Given the description of an element on the screen output the (x, y) to click on. 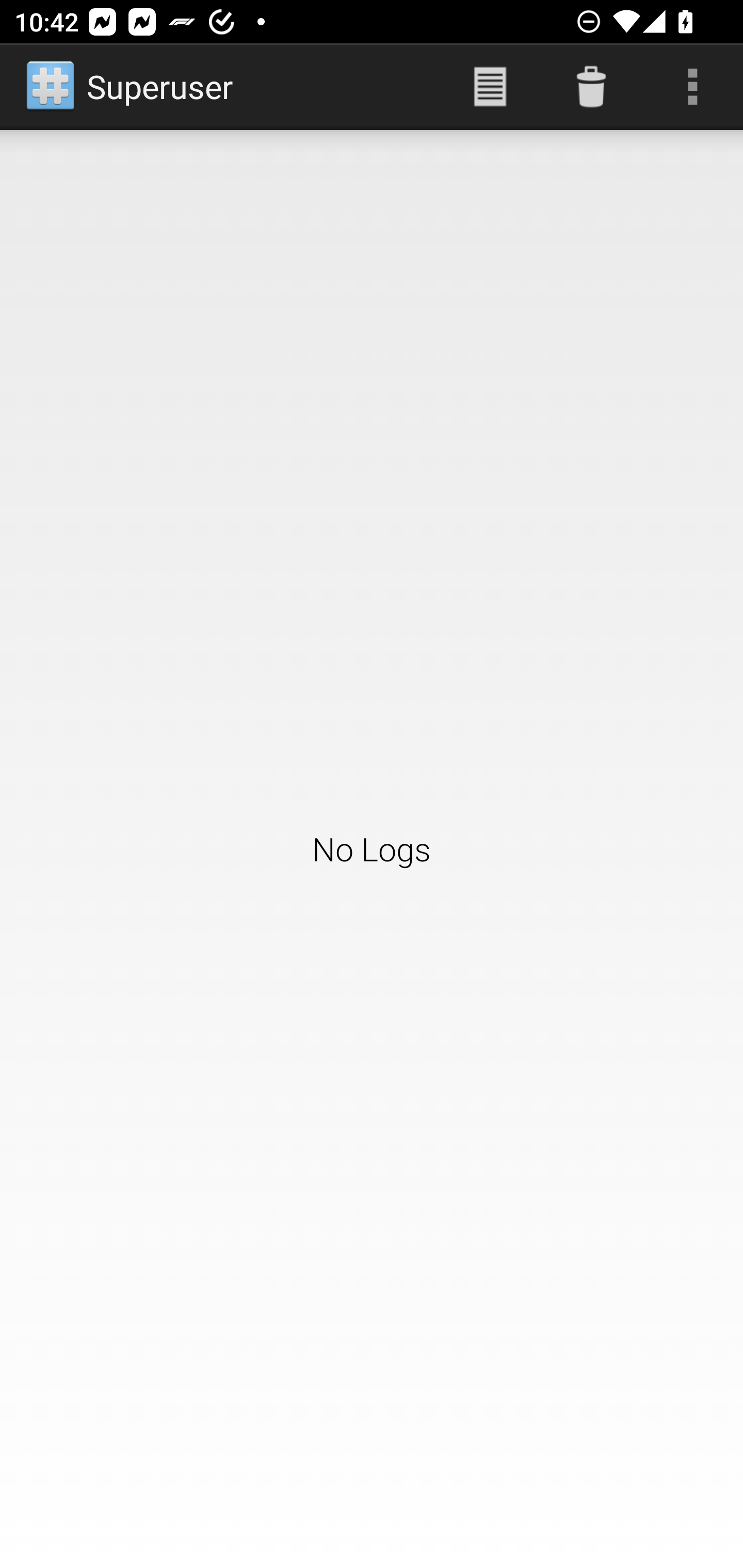
Superuser (130, 86)
Logs (489, 86)
Delete (590, 86)
More options (692, 86)
